Given the description of an element on the screen output the (x, y) to click on. 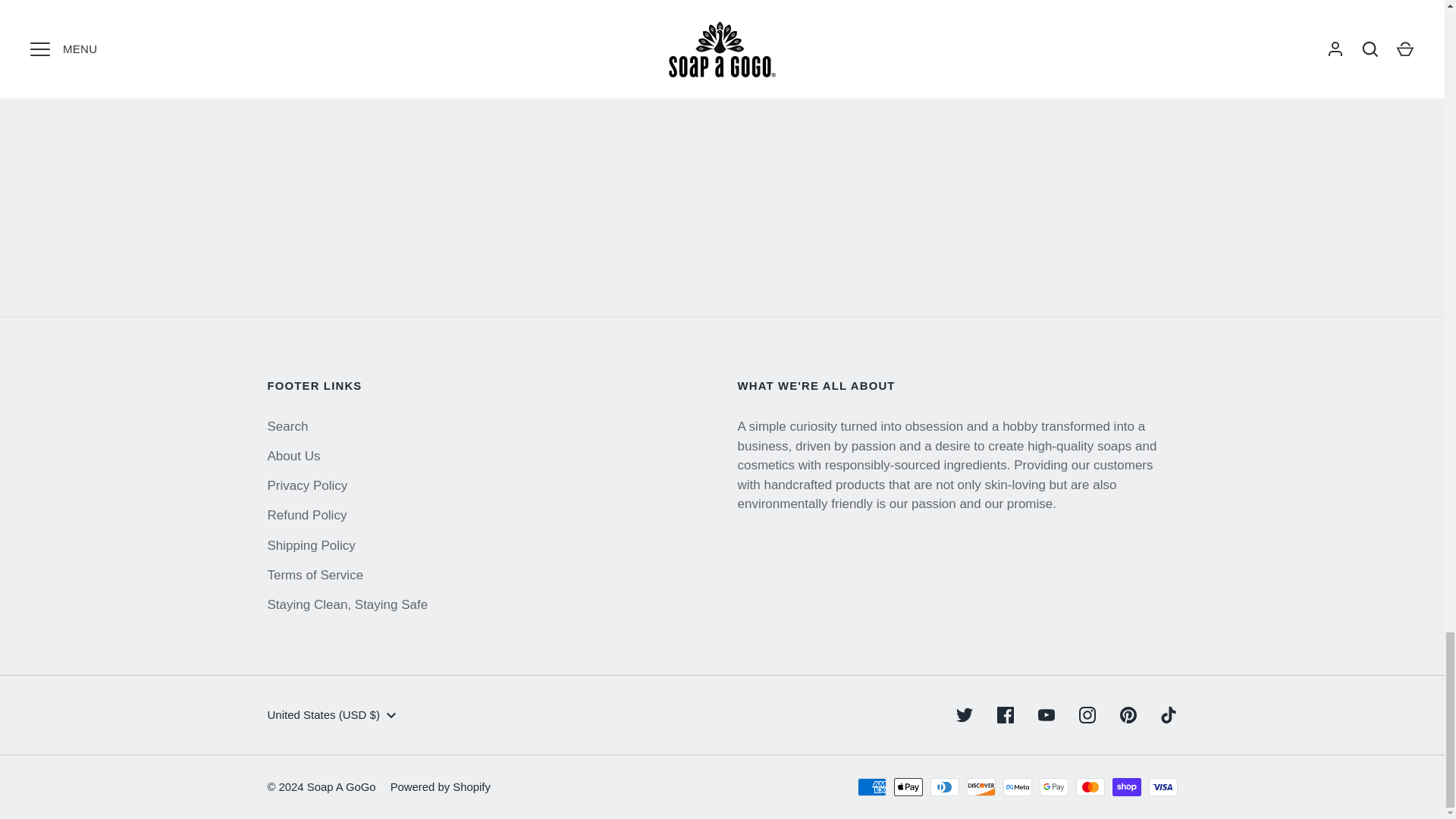
Down (390, 715)
